Given the description of an element on the screen output the (x, y) to click on. 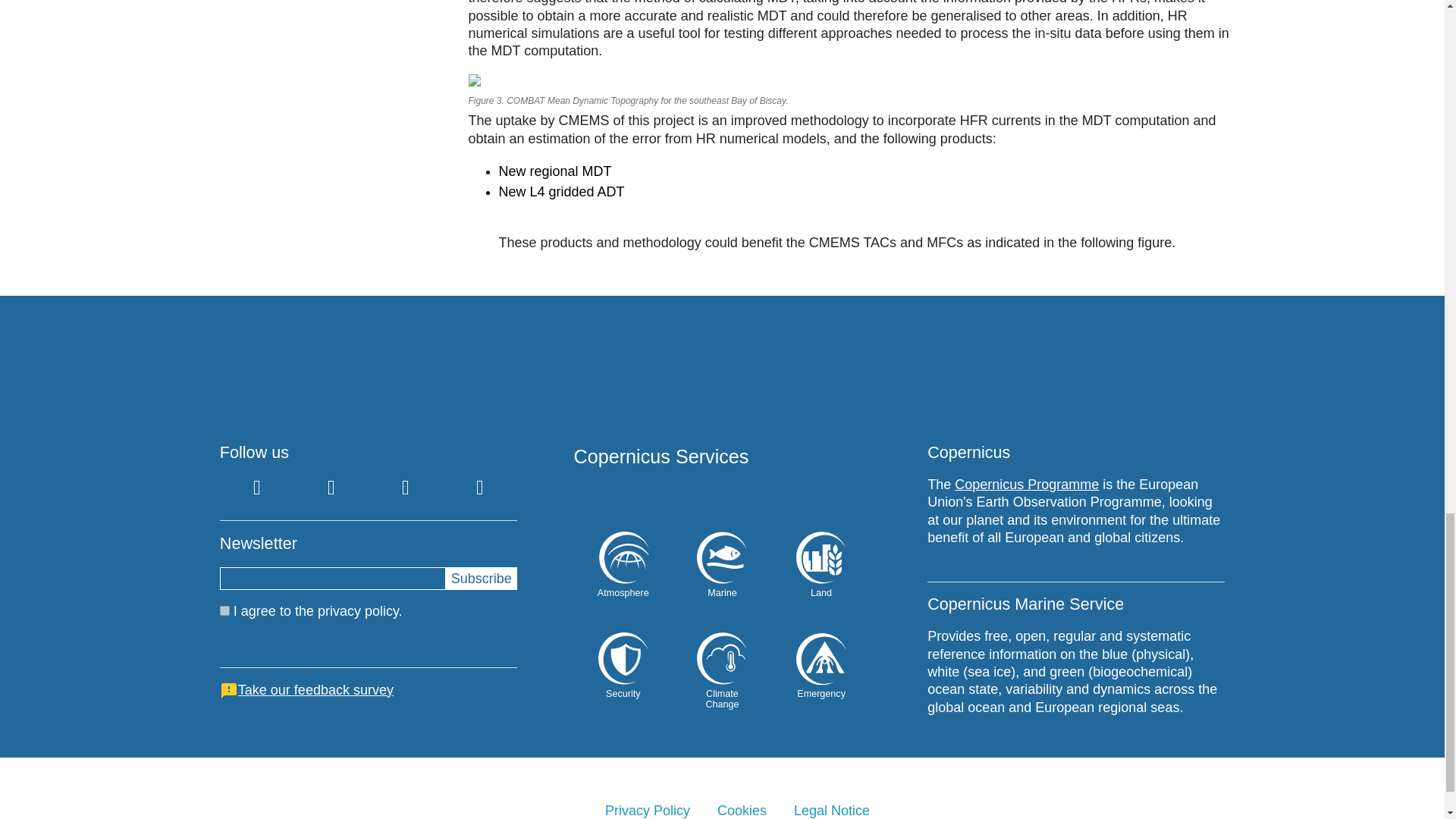
1 (224, 610)
Copernicus Programme (1027, 484)
Subscribe (480, 578)
